Given the description of an element on the screen output the (x, y) to click on. 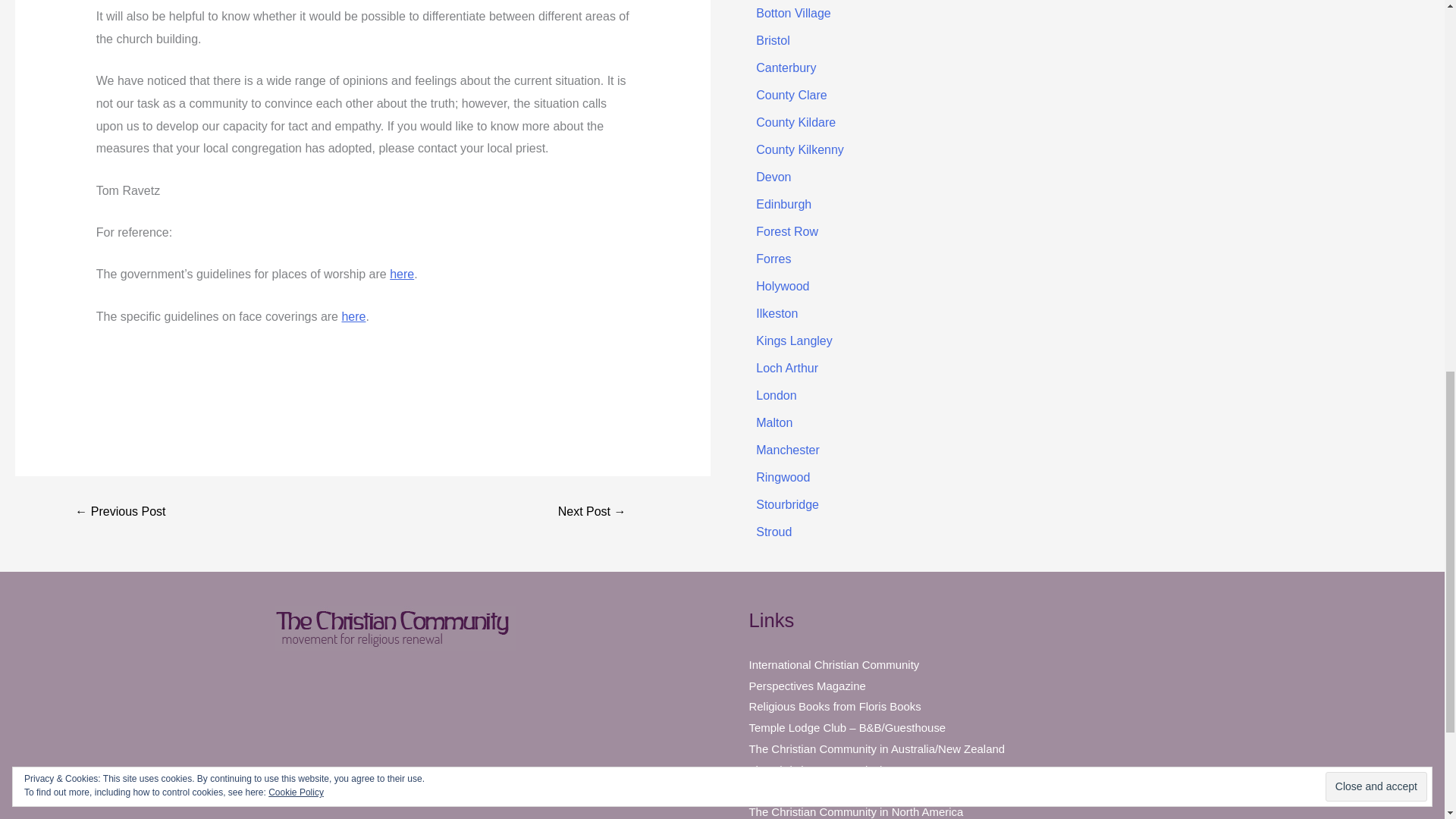
Floris Books (835, 706)
Corrected version of St John's to Michaelmas programme (119, 511)
Quarterly magazine of The Christian Community in English (807, 685)
Homily by Peter van Breda - homelessness (591, 511)
